Given the description of an element on the screen output the (x, y) to click on. 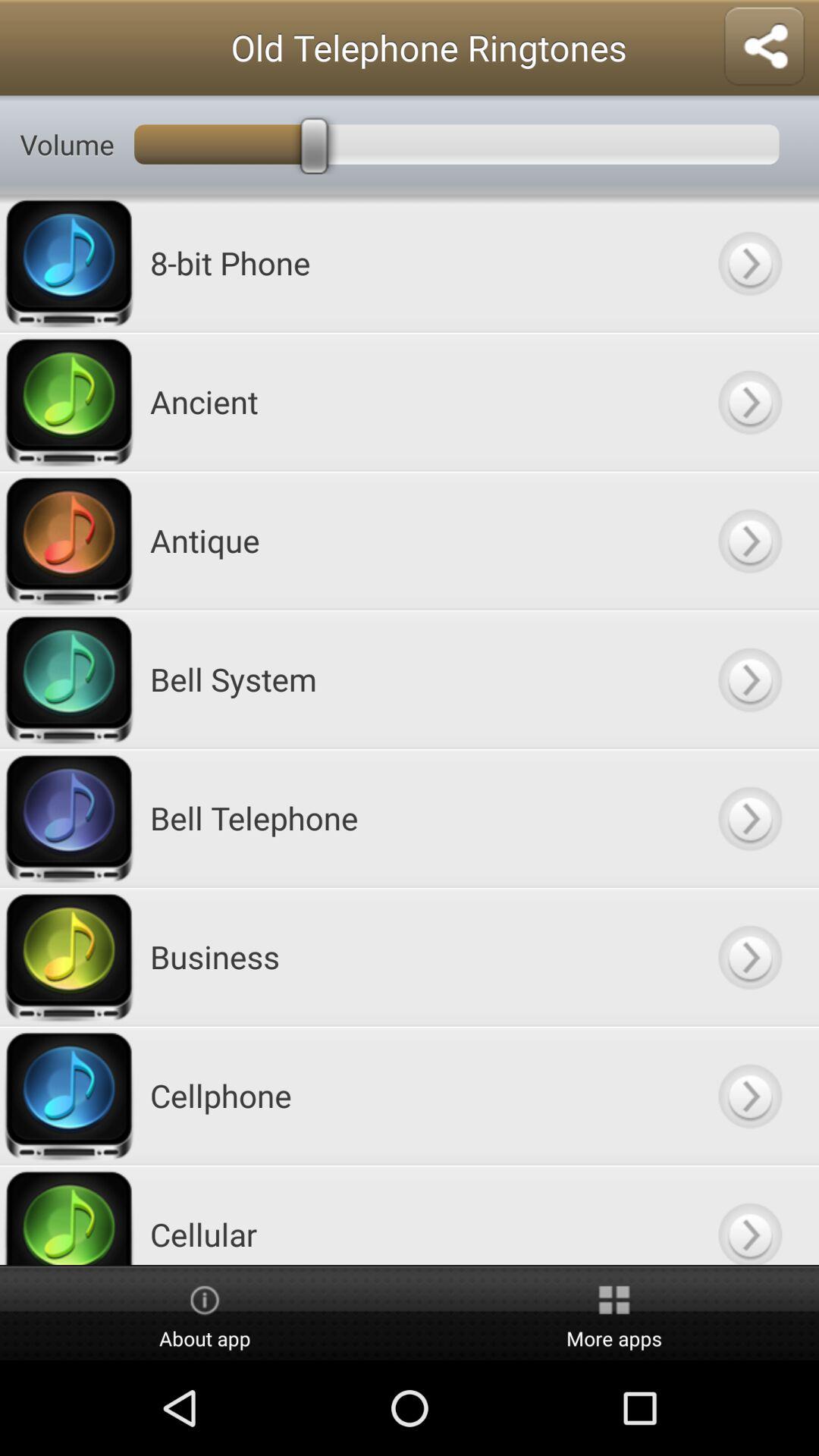
play sound (749, 401)
